Given the description of an element on the screen output the (x, y) to click on. 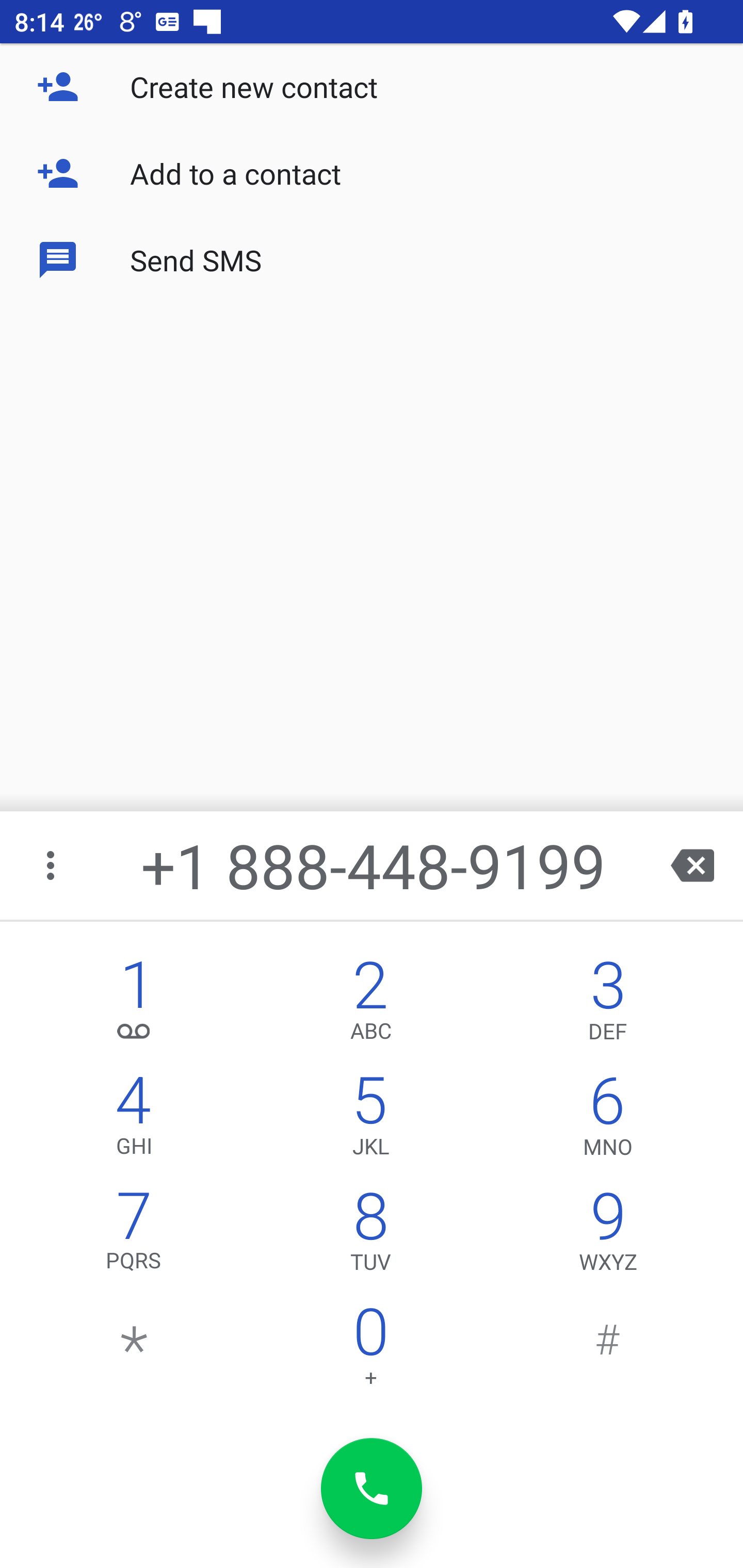
Create new contact (371, 86)
Add to a contact (371, 173)
Send SMS (371, 259)
+1 888-448-9199 (372, 865)
backspace (692, 865)
More options (52, 865)
1, 1 (133, 1005)
2,ABC 2 ABC (370, 1005)
3,DEF 3 DEF (607, 1005)
4,GHI 4 GHI (133, 1120)
5,JKL 5 JKL (370, 1120)
6,MNO 6 MNO (607, 1120)
7,PQRS 7 PQRS (133, 1235)
8,TUV 8 TUV (370, 1235)
9,WXYZ 9 WXYZ (607, 1235)
* (133, 1351)
0 0 + (370, 1351)
# (607, 1351)
dial (371, 1488)
